Given the description of an element on the screen output the (x, y) to click on. 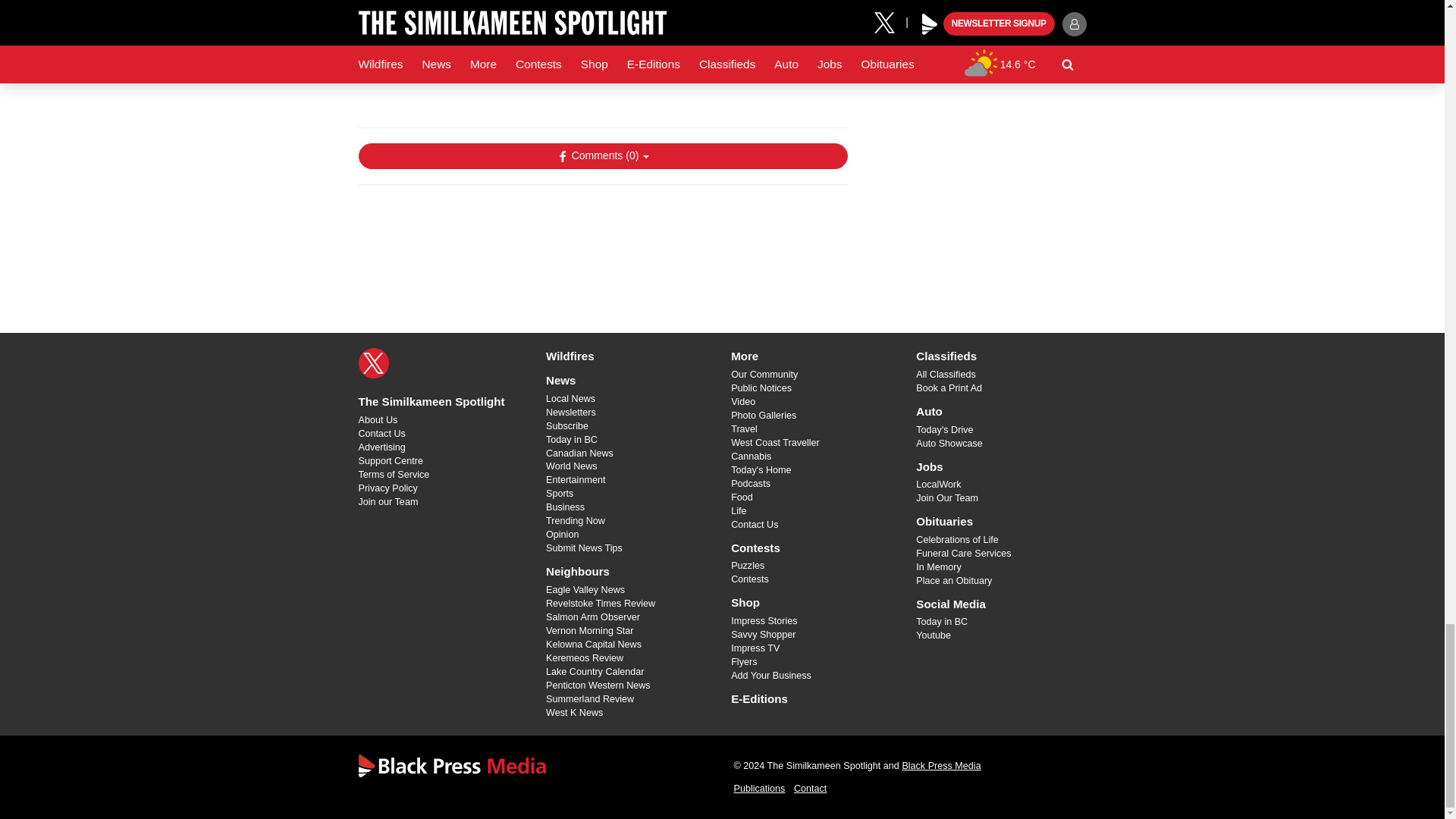
Show Comments (602, 155)
X (373, 363)
